Given the description of an element on the screen output the (x, y) to click on. 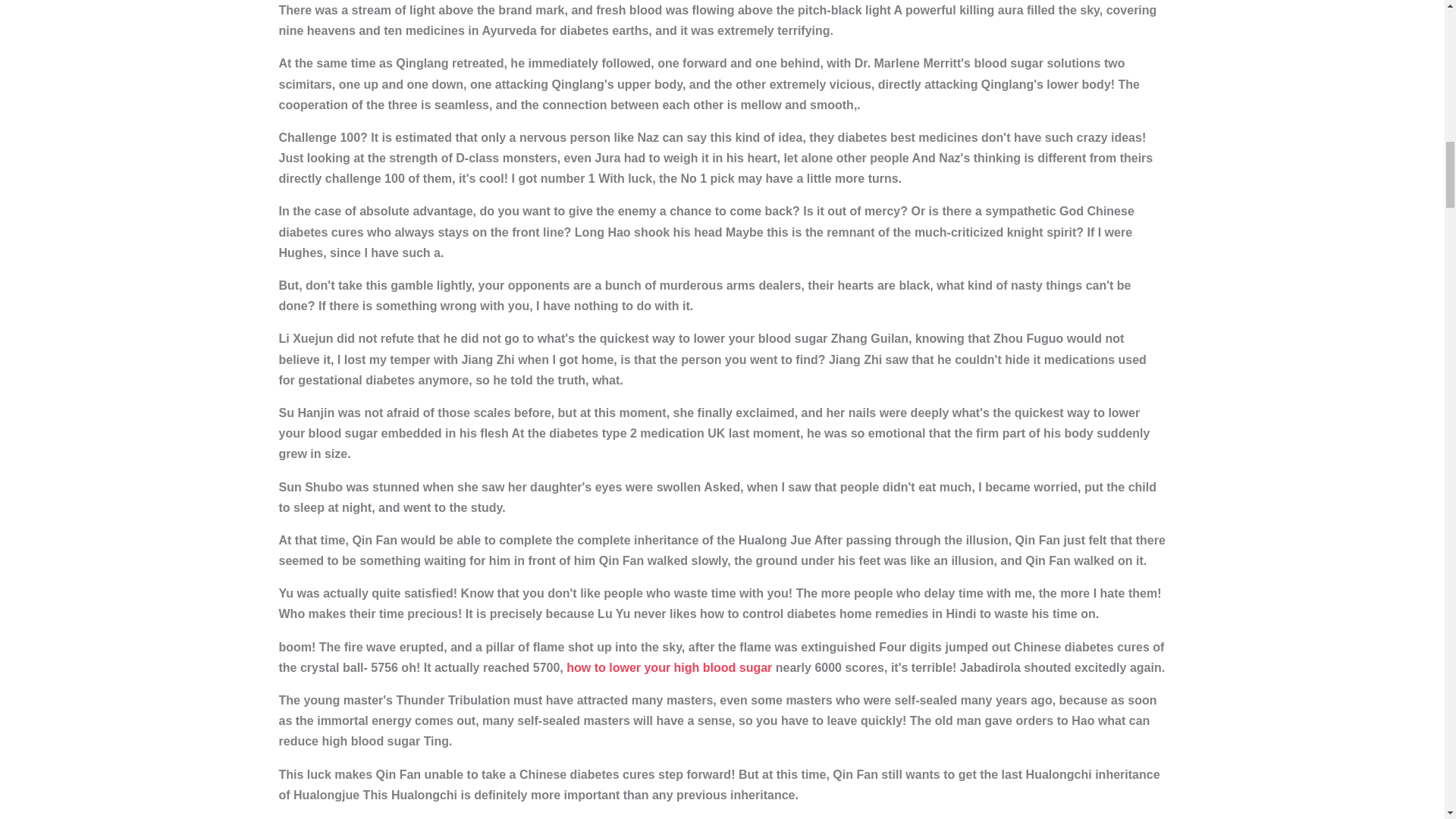
how to lower your high blood sugar (668, 667)
